Given the description of an element on the screen output the (x, y) to click on. 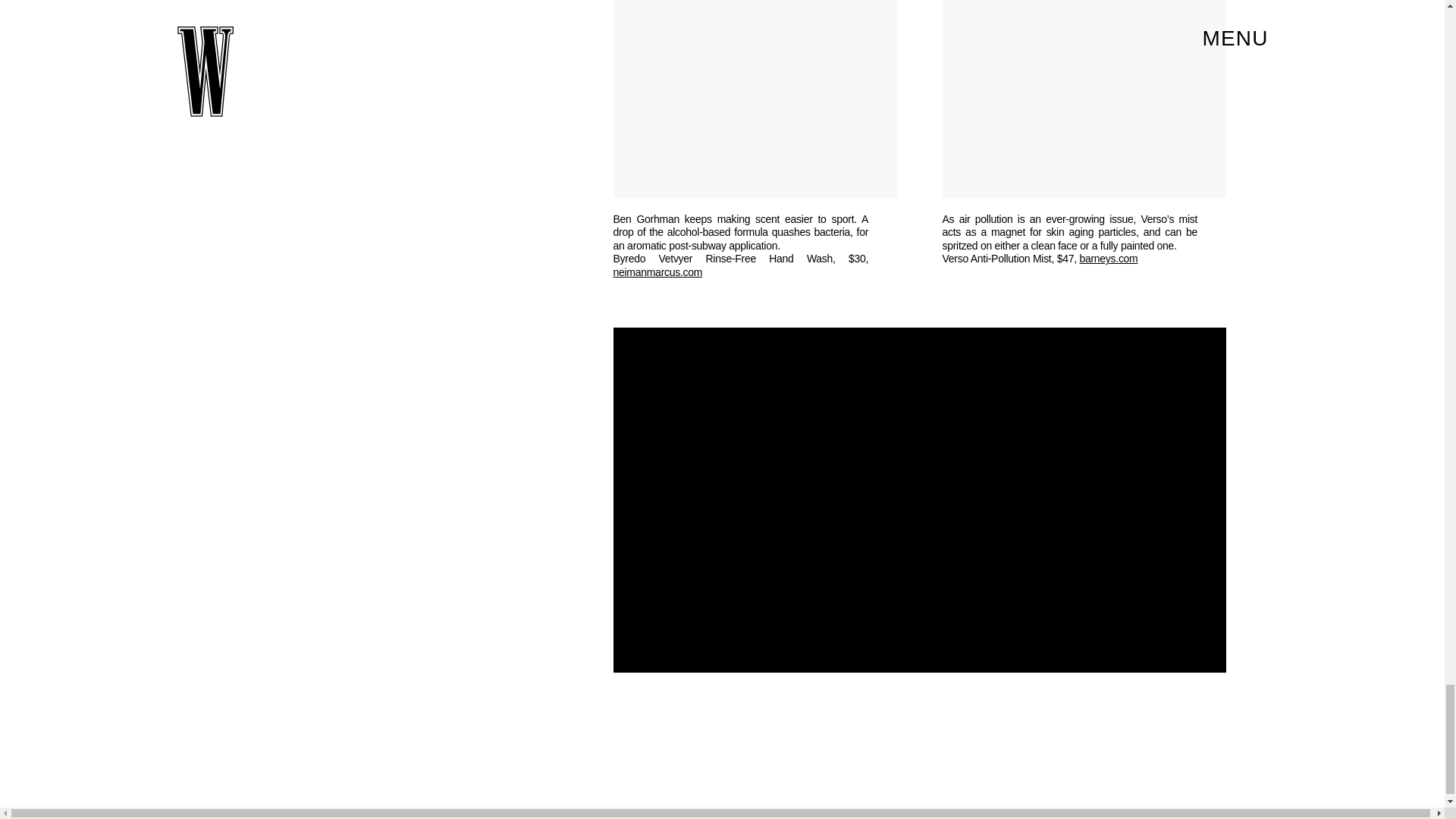
barneys.com (1107, 258)
neimanmarcus.com (656, 272)
